Given the description of an element on the screen output the (x, y) to click on. 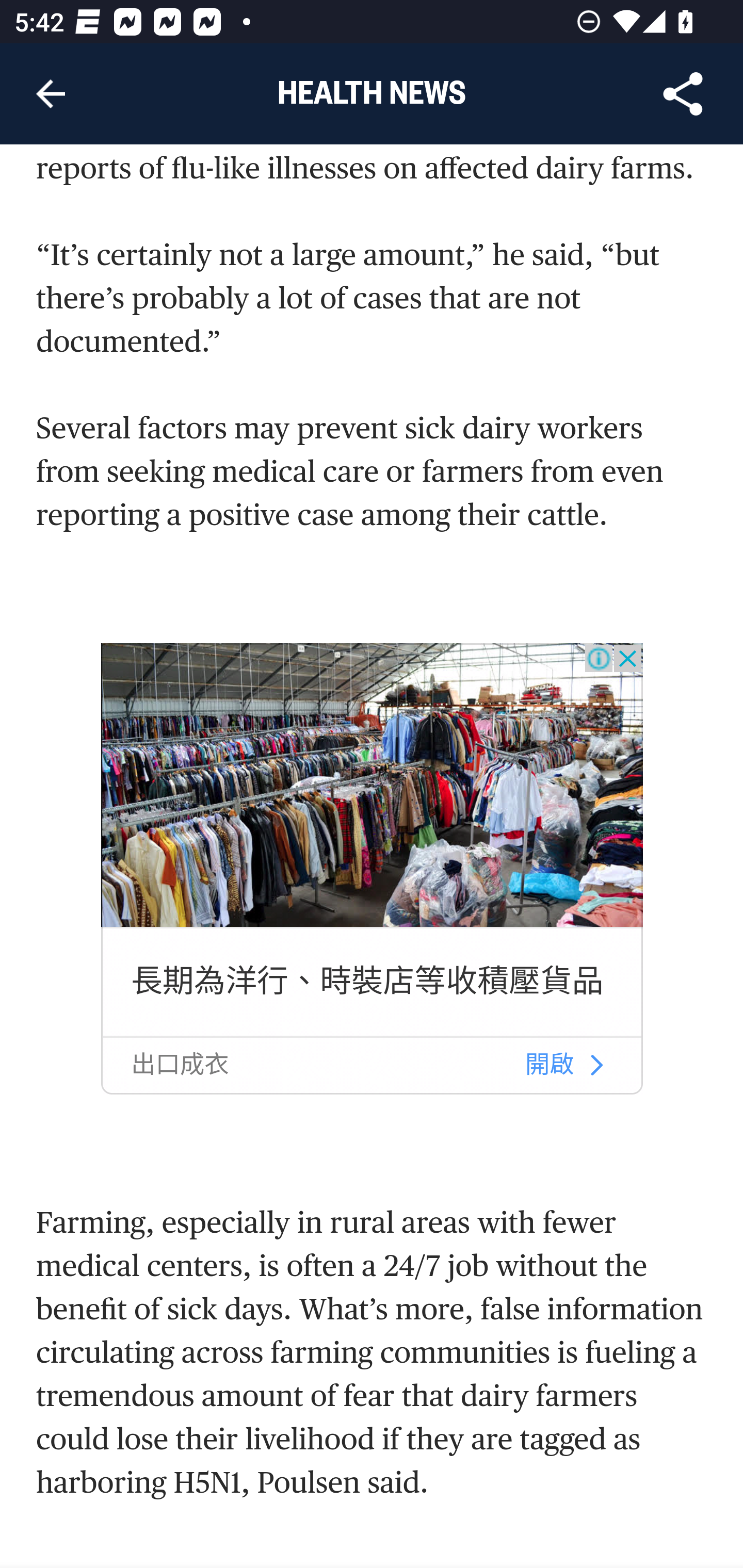
Navigate up (50, 93)
Share Article, button (683, 94)
長期為洋行、時裝店等收積壓貨品 (367, 979)
出口成衣 (179, 1064)
開啟 (549, 1064)
